Given the description of an element on the screen output the (x, y) to click on. 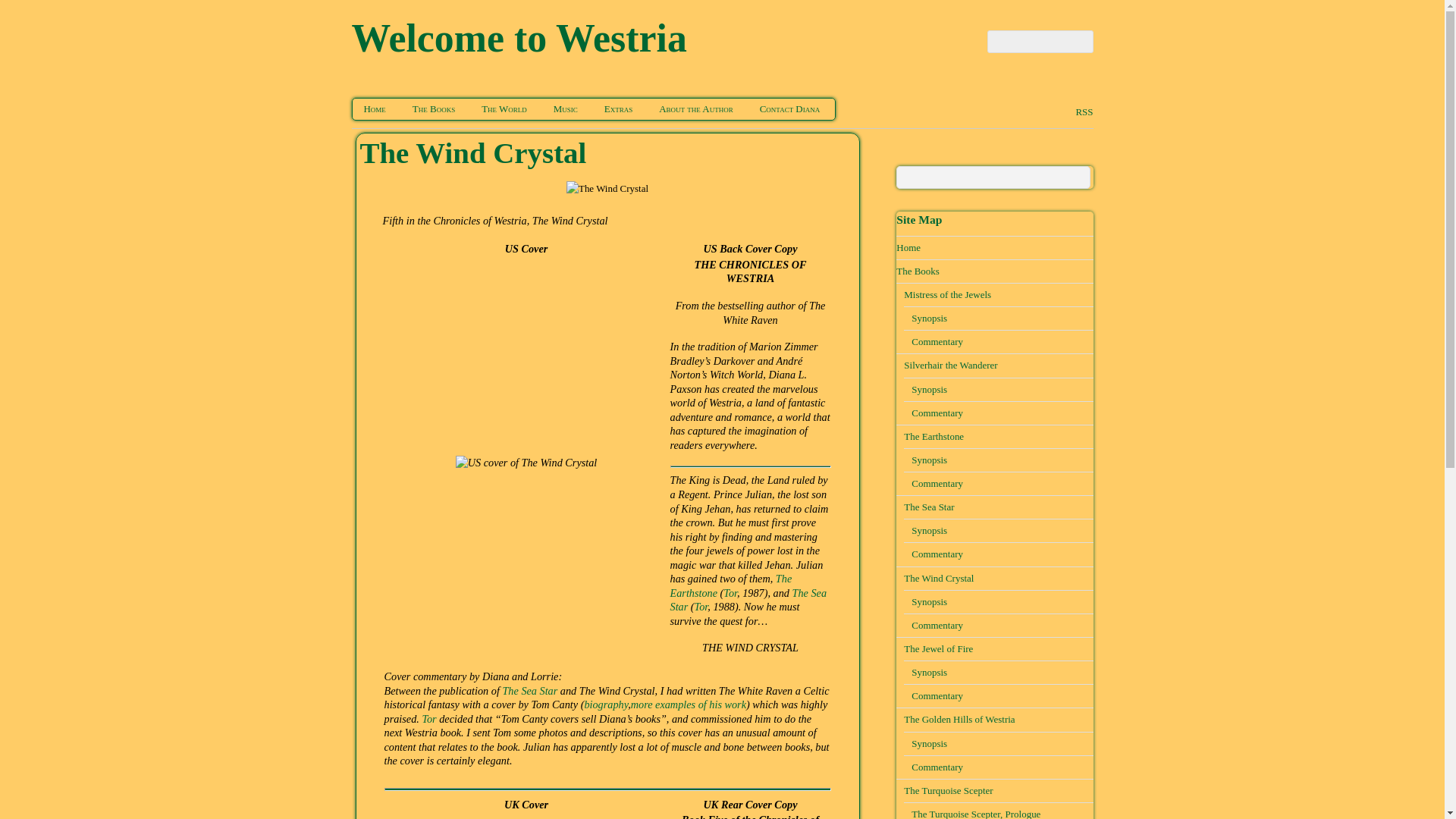
The World (504, 108)
Contact Diana (789, 108)
Search (1040, 41)
Search (992, 177)
Home (374, 108)
Extras (617, 108)
Welcome to Westria (519, 37)
Welcome to Westria (519, 37)
The Books (433, 108)
About the Author (695, 108)
